Given the description of an element on the screen output the (x, y) to click on. 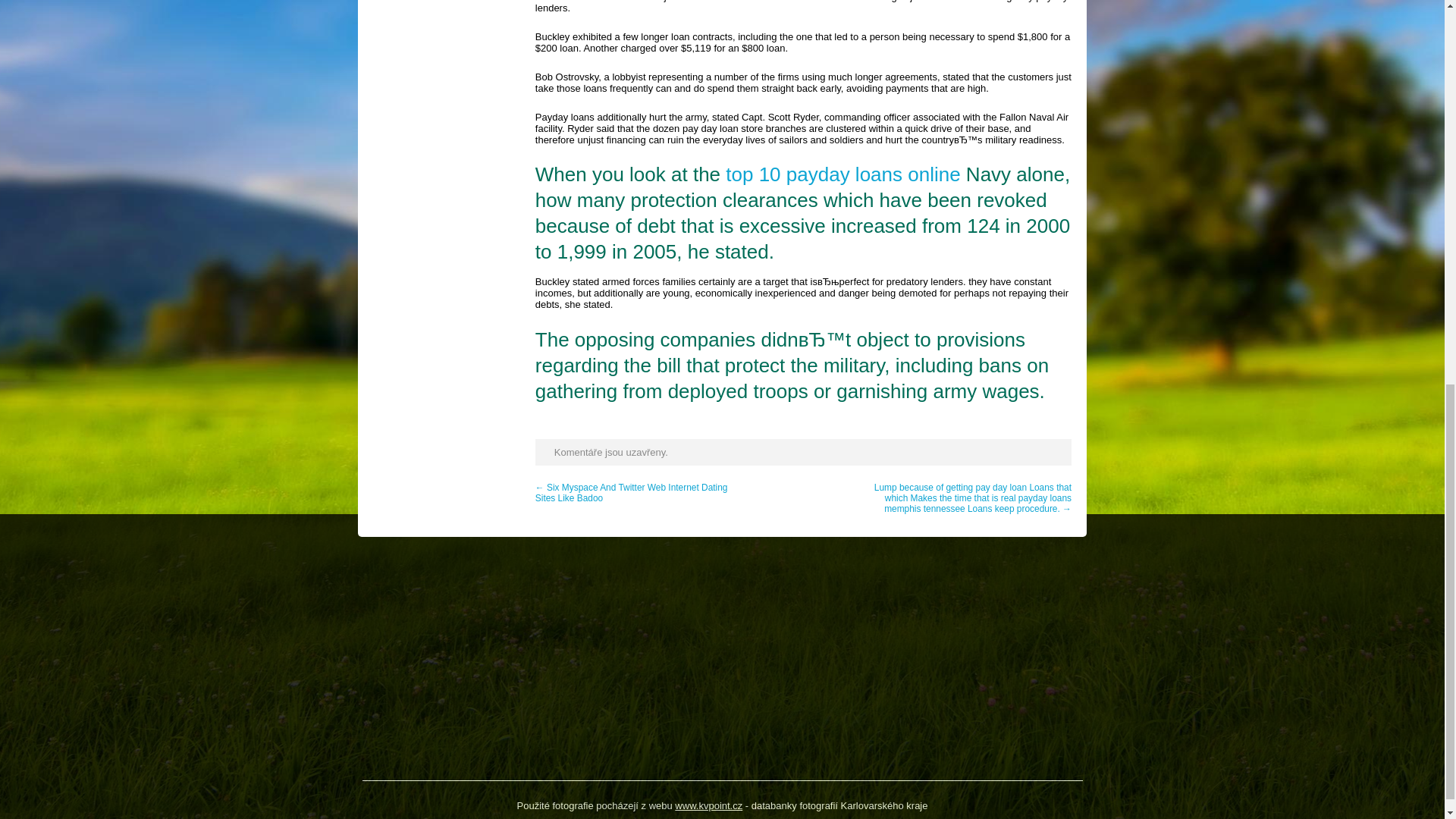
KVPoint.cz (708, 805)
top 10 payday loans online (842, 173)
www.kvpoint.cz (708, 805)
